Given the description of an element on the screen output the (x, y) to click on. 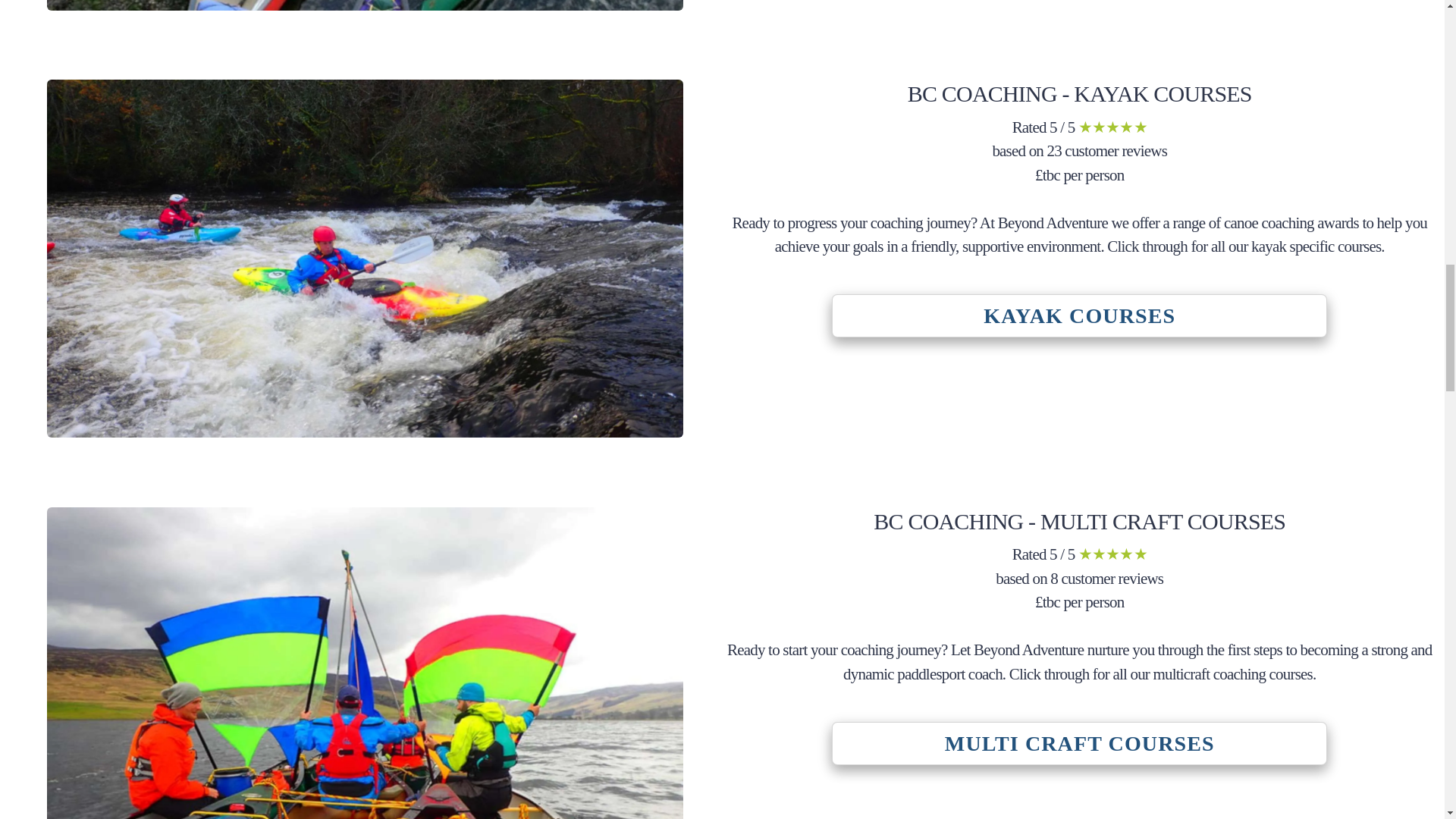
Multi Craft Courses (1078, 742)
Kayak Course (1078, 315)
